Given the description of an element on the screen output the (x, y) to click on. 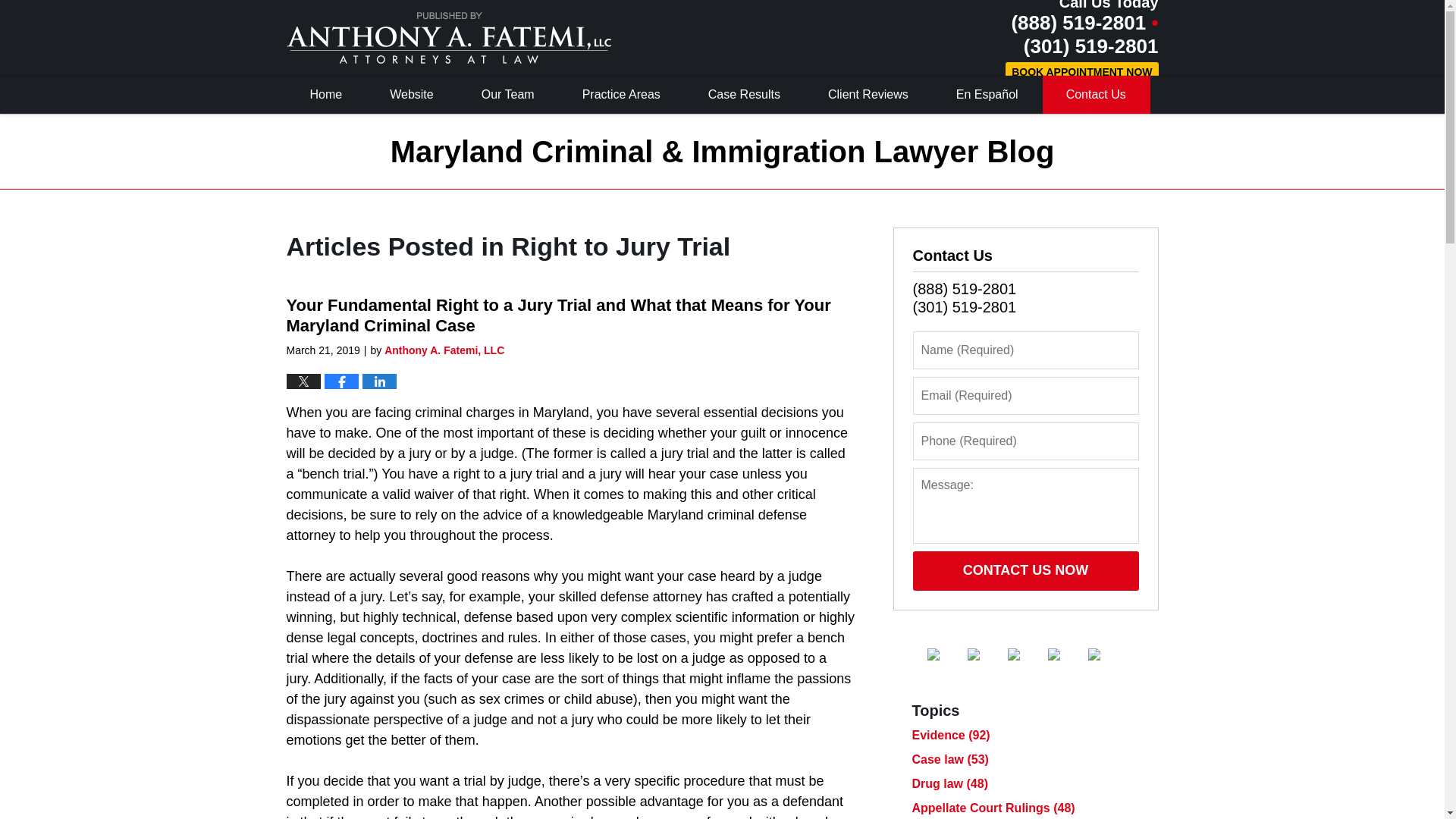
BOOK APPOINTMENT NOW (1081, 72)
Client Reviews (869, 94)
Anthony A. Fatemi, LLC (443, 349)
Home (326, 94)
Website (412, 94)
LinkedIn (1025, 654)
Twitter (986, 654)
Our Team (508, 94)
Practice Areas (621, 94)
